Given the description of an element on the screen output the (x, y) to click on. 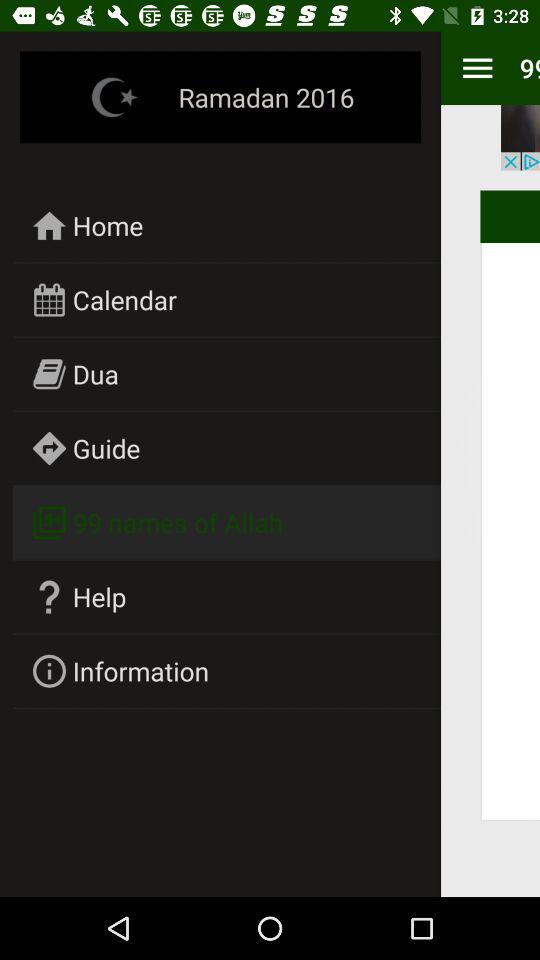
launch app to the left of the 99 names of (477, 68)
